Given the description of an element on the screen output the (x, y) to click on. 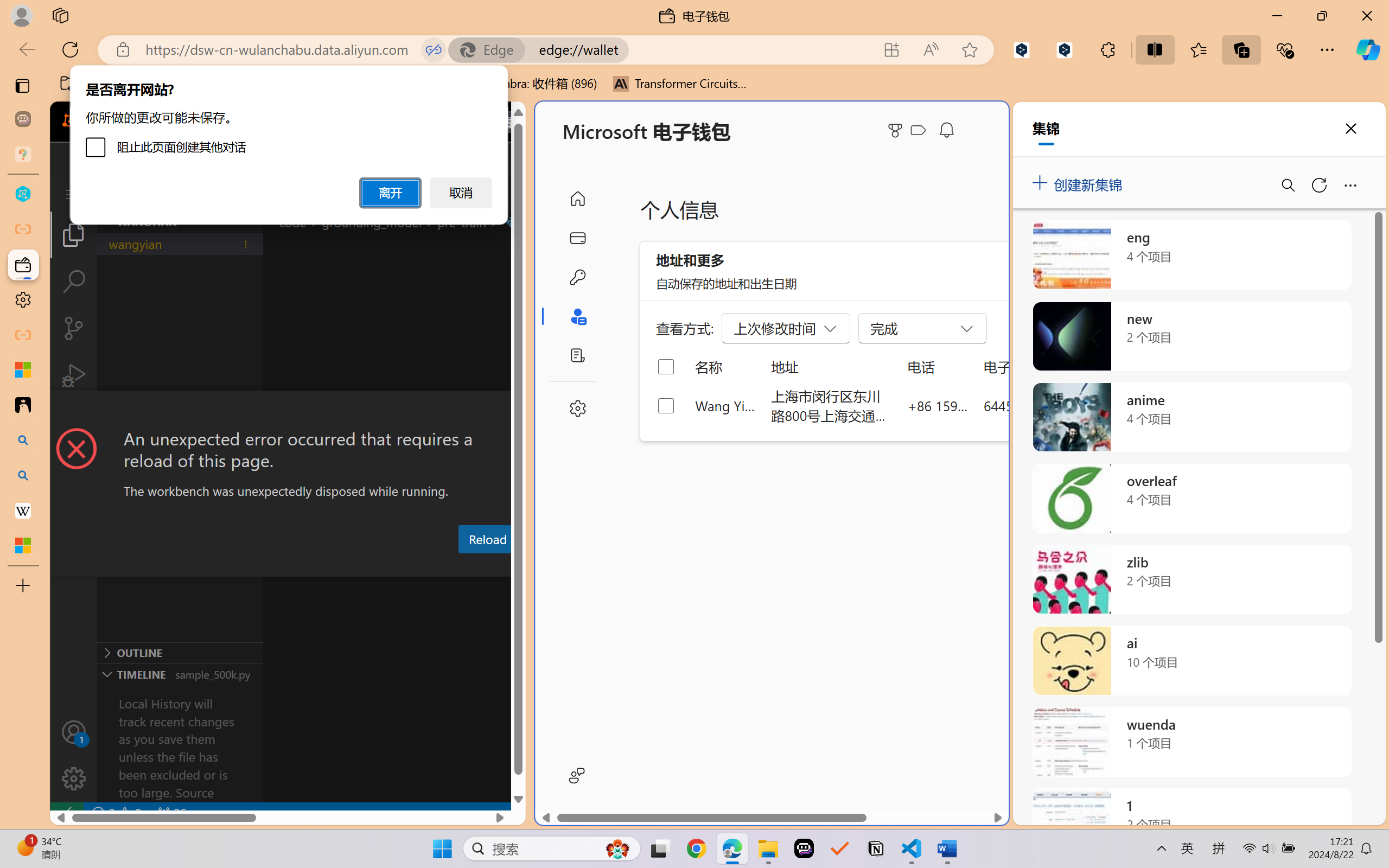
Output (Ctrl+Shift+U) (377, 565)
Copilot (Ctrl+Shift+.) (1368, 49)
Adjust indents and spacing - Microsoft Support (22, 369)
Earth - Wikipedia (22, 510)
